Given the description of an element on the screen output the (x, y) to click on. 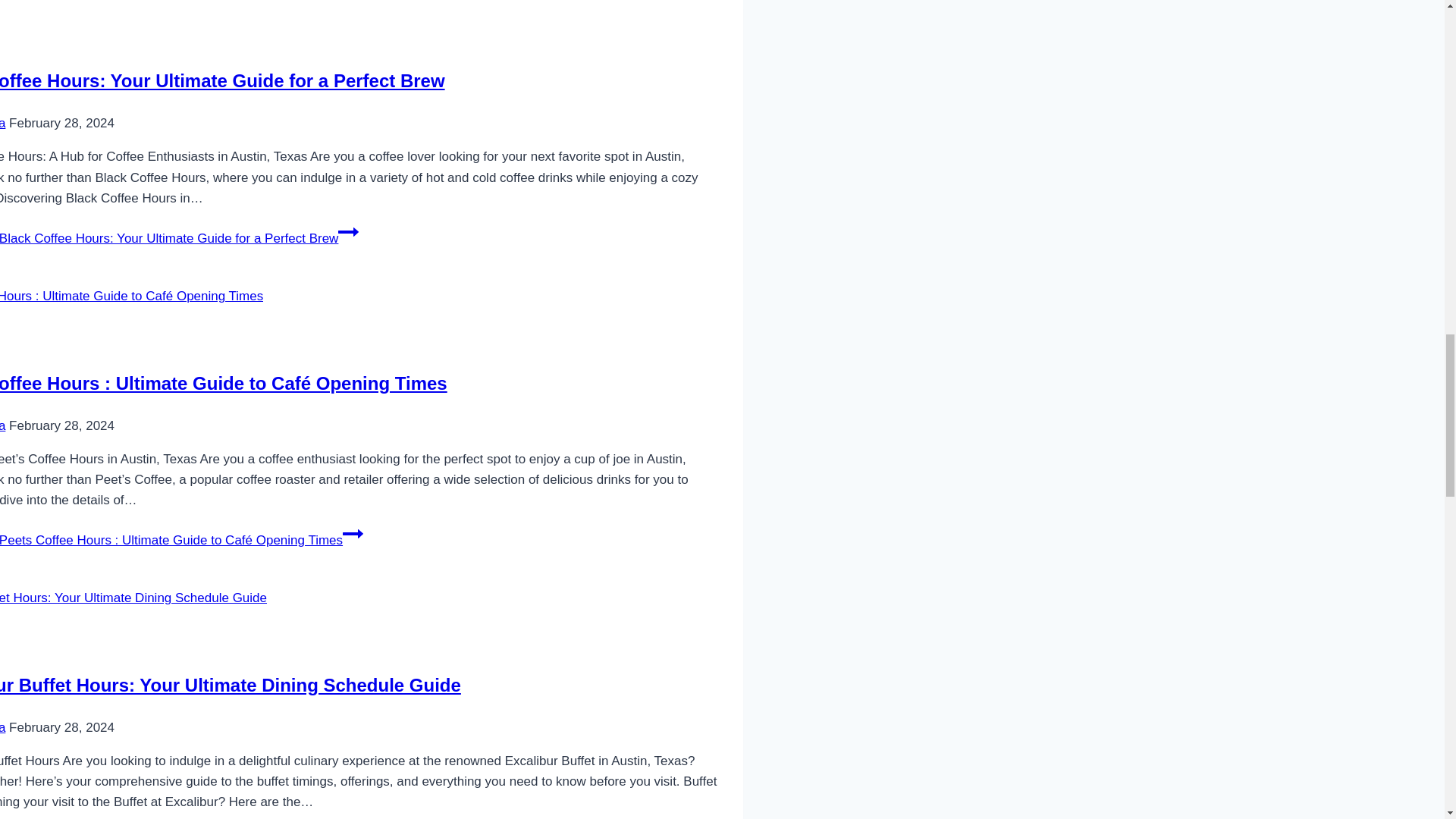
Continue (347, 231)
Continue (352, 533)
Excalibur Buffet Hours: Your Ultimate Dining Schedule Guide (230, 684)
Black Coffee Hours: Your Ultimate Guide for a Perfect Brew (222, 80)
